Given the description of an element on the screen output the (x, y) to click on. 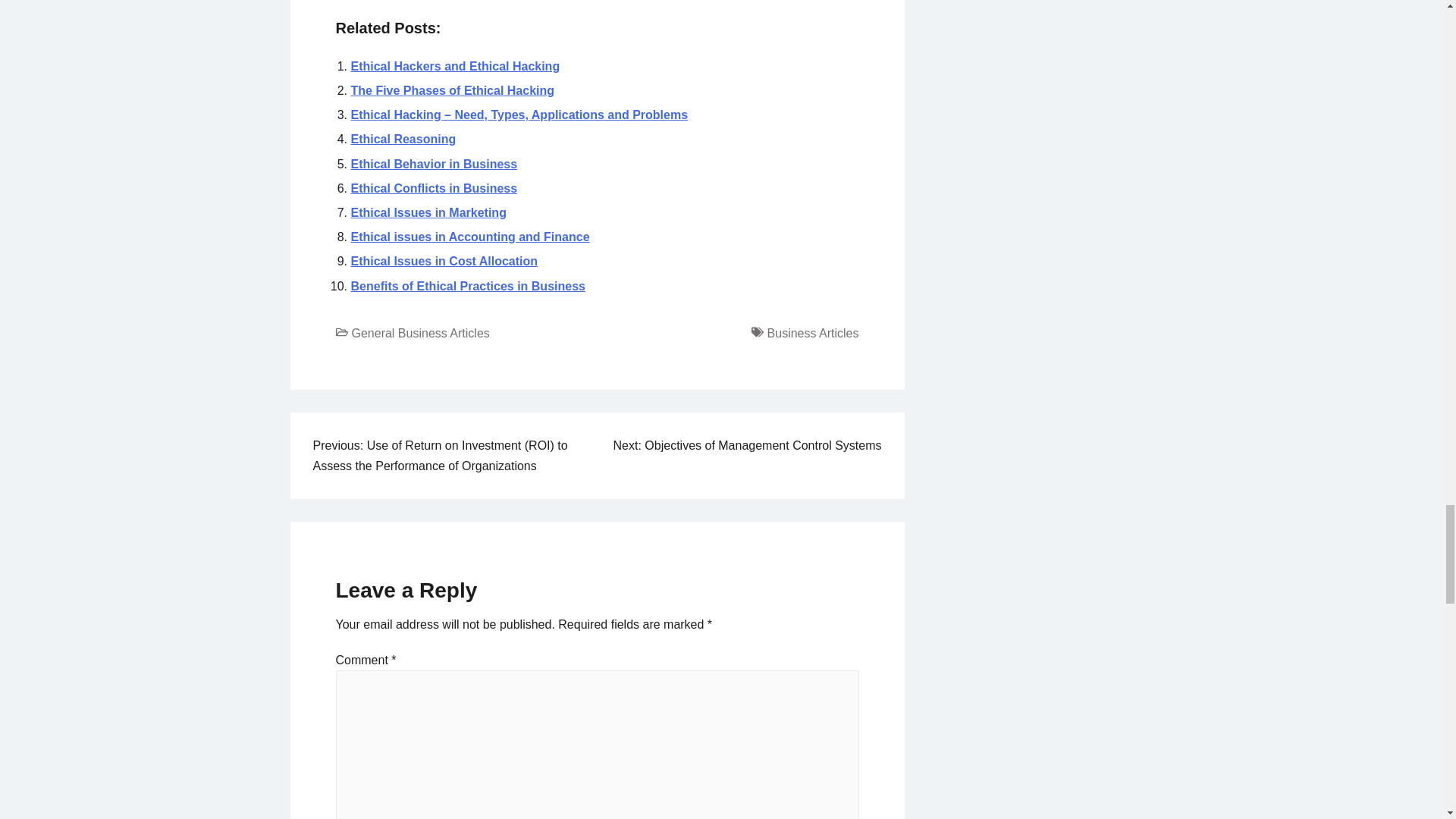
Ethical Behavior in Business (433, 164)
Ethical issues in Accounting and Finance (469, 236)
Ethical Conflicts in Business (433, 187)
Ethical Behavior in Business (433, 164)
Ethical Hackers and Ethical Hacking (454, 65)
The Five Phases of Ethical Hacking (452, 90)
Business Articles (813, 332)
Next: Objectives of Management Control Systems (747, 445)
Ethical Reasoning (402, 138)
Ethical Reasoning (402, 138)
